Given the description of an element on the screen output the (x, y) to click on. 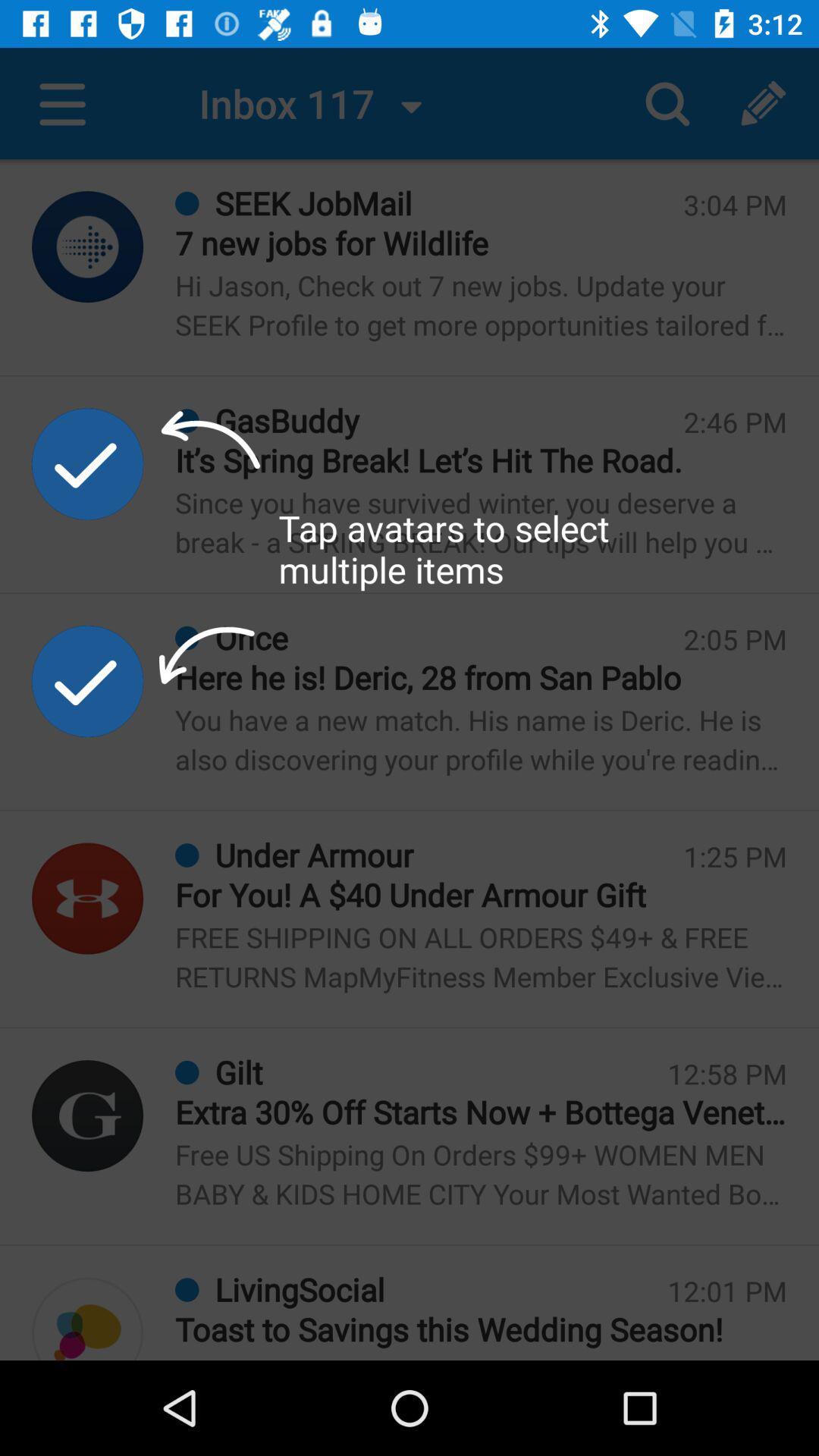
message (87, 1318)
